Given the description of an element on the screen output the (x, y) to click on. 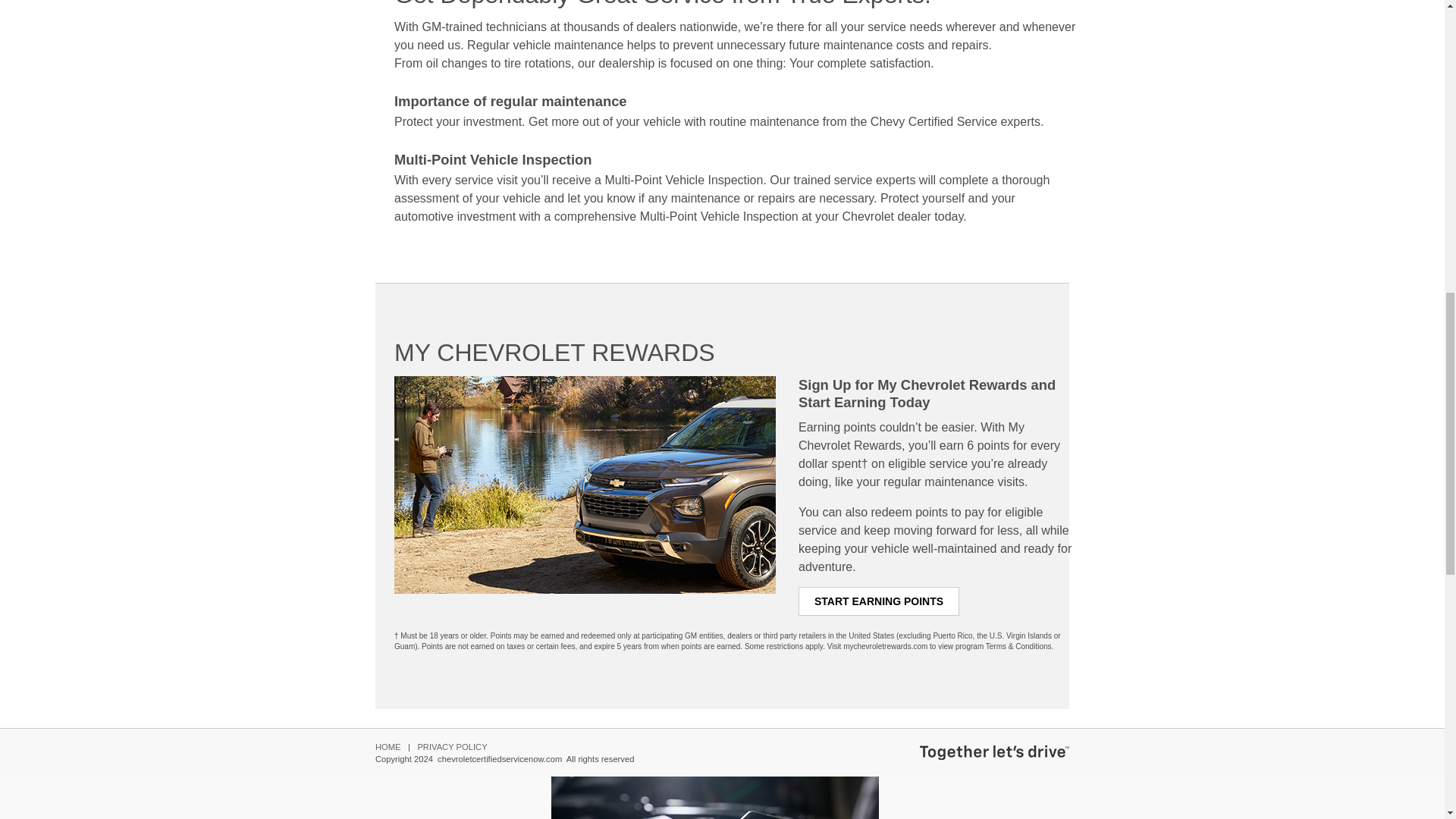
HOME (540, 104)
PRIVACY POLICY (540, 247)
START EARNING POINTS (540, 466)
